Given the description of an element on the screen output the (x, y) to click on. 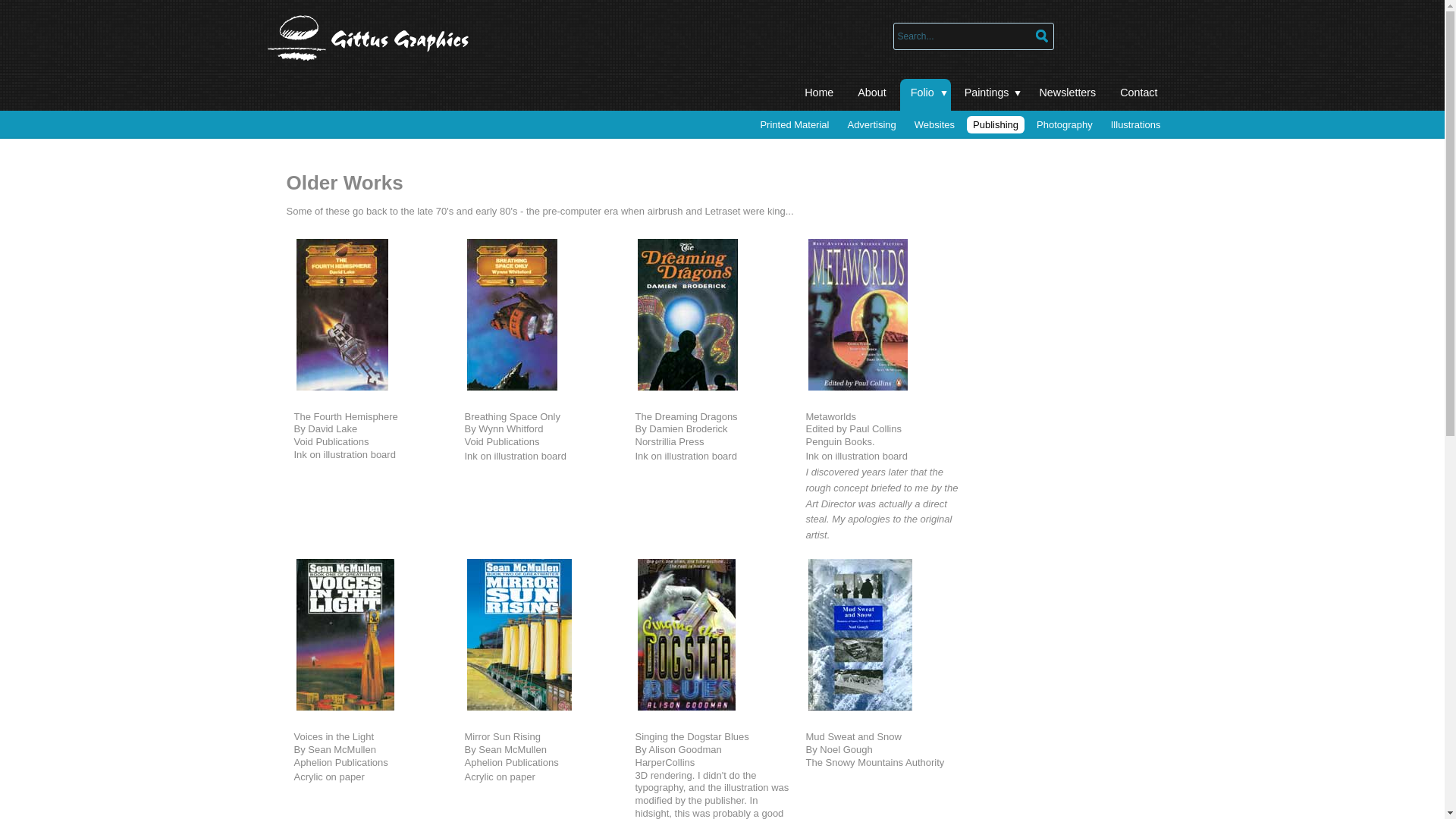
Home Element type: text (818, 94)
Advertising Element type: text (870, 124)
Photography Element type: text (1064, 124)
Contact Element type: text (1138, 94)
Newsletters Element type: text (1068, 94)
Folio Element type: text (925, 94)
Illustrations Element type: text (1135, 124)
Paintings Element type: text (989, 94)
Printed Material Element type: text (793, 124)
Publishing Element type: text (995, 124)
About Element type: text (871, 94)
Websites Element type: text (934, 124)
